Given the description of an element on the screen output the (x, y) to click on. 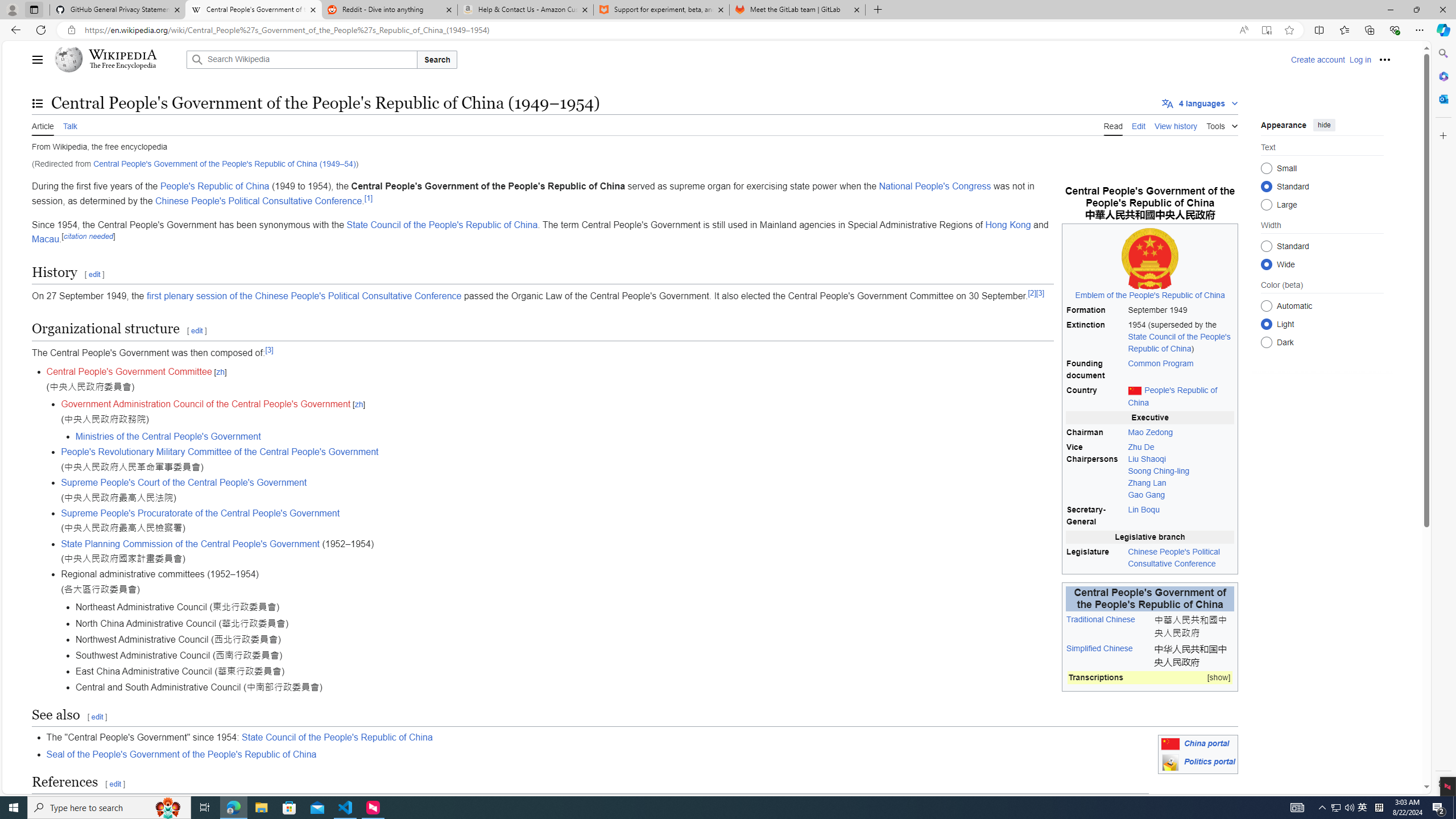
Legislative branch (1149, 536)
GitHub General Privacy Statement - GitHub Docs (117, 9)
Search Wikipedia (301, 59)
Mao Zedong (1180, 431)
Lin Boqu (1180, 516)
Log in (1360, 58)
Politics portal (1208, 761)
Standard (1266, 245)
zh (358, 404)
View history (1176, 124)
